Given the description of an element on the screen output the (x, y) to click on. 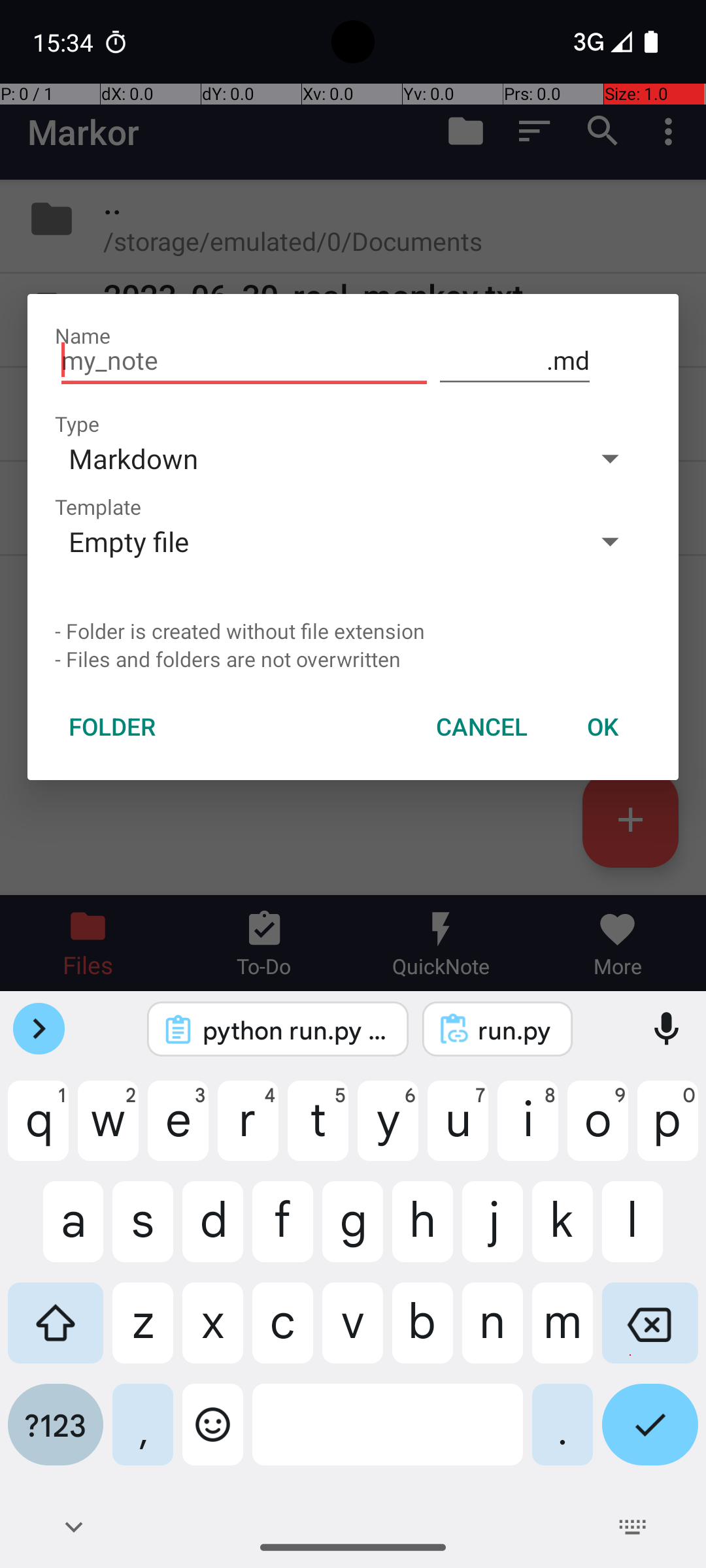
python run.py \   --suite_family=android_world \   --agent_name=t3a_gpt4 \   --perform_emulator_setup \   --tasks=ContactsAddContact,ClockStopWatchRunning \  # Optional: Just run on a subset. Element type: android.widget.TextView (294, 1029)
run.py Element type: android.widget.TextView (514, 1029)
